Given the description of an element on the screen output the (x, y) to click on. 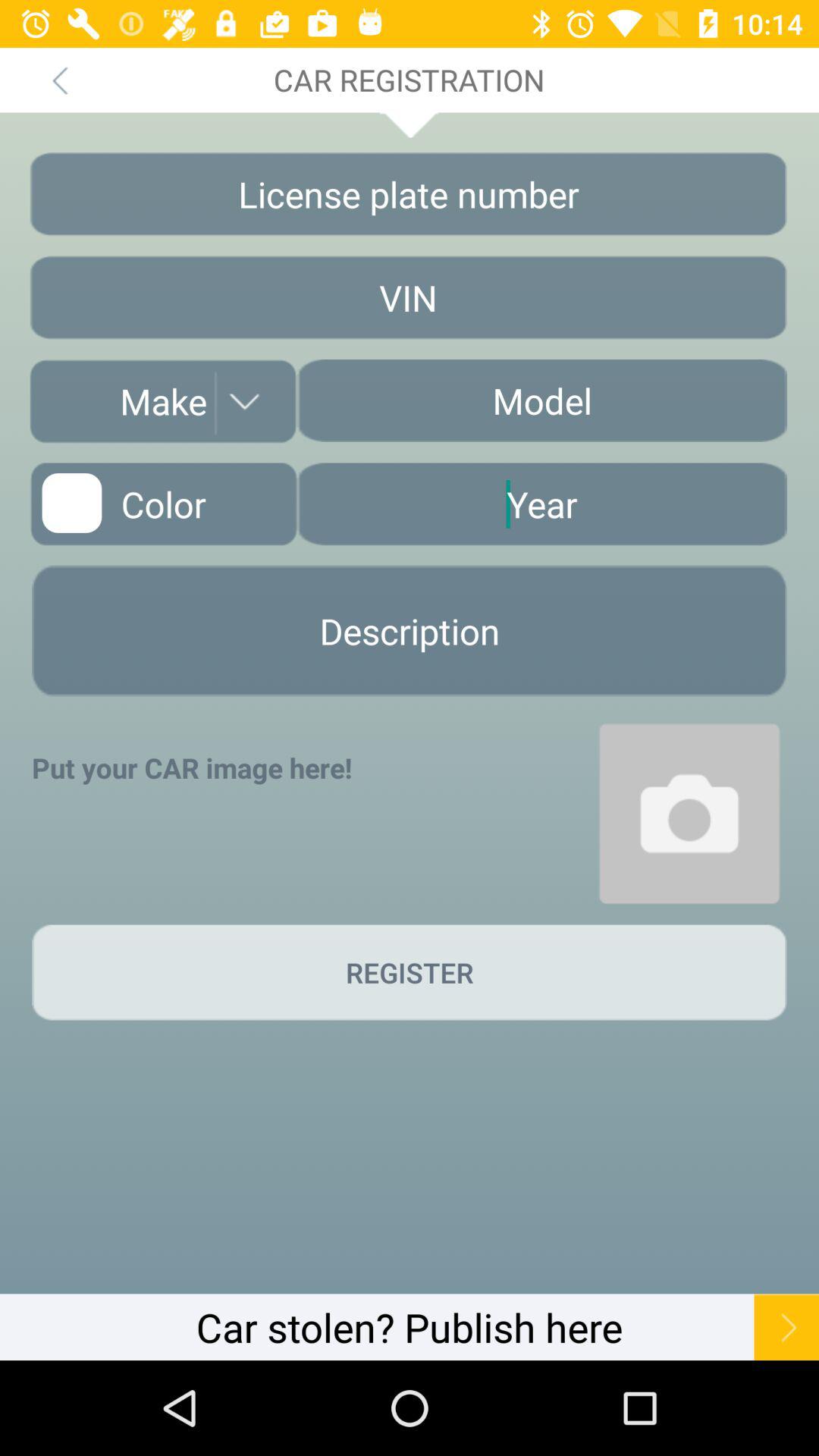
description of vehicle (409, 630)
